Given the description of an element on the screen output the (x, y) to click on. 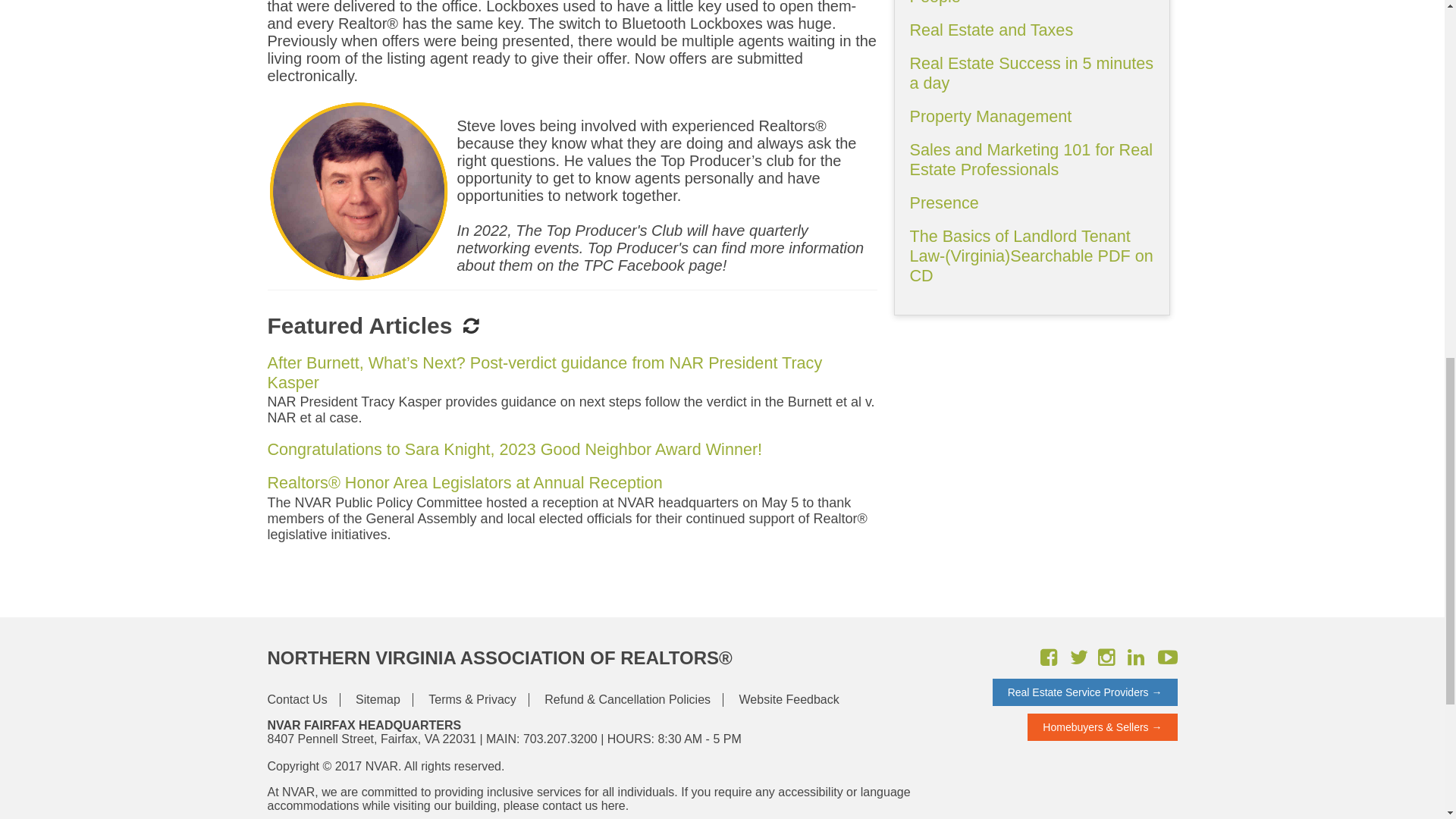
steve d headshot (357, 190)
